Given the description of an element on the screen output the (x, y) to click on. 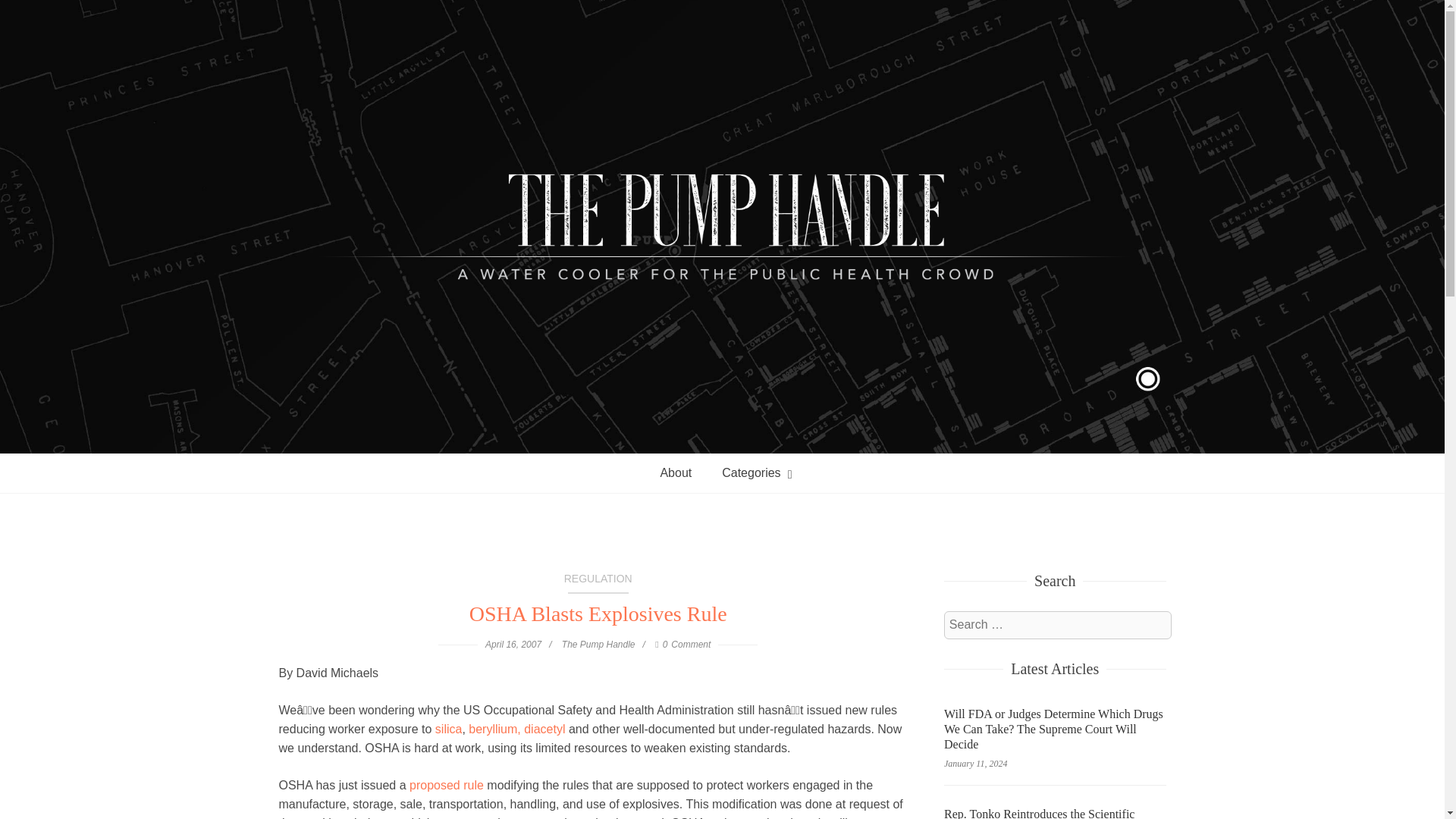
OSHA Blasts Explosives Rule (598, 613)
About (675, 473)
Search for: (1057, 624)
REGULATION (722, 473)
silica (597, 581)
